Given the description of an element on the screen output the (x, y) to click on. 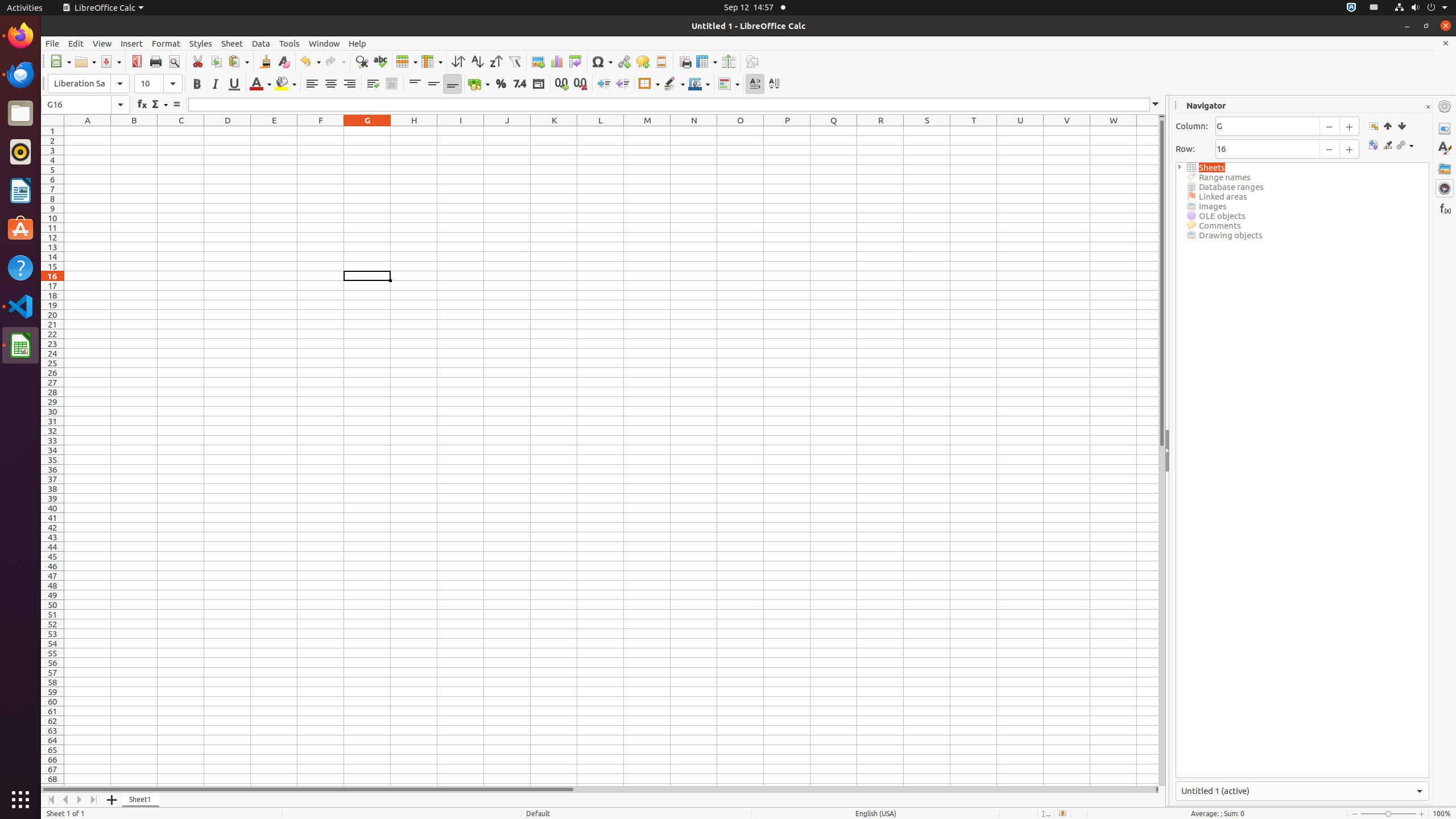
Sort Descending Element type: push-button (495, 61)
View Element type: menu (102, 43)
Font Size Element type: combo-box (158, 83)
Horizontal scroll bar Element type: scroll-bar (597, 789)
Find & Replace Element type: toggle-button (361, 61)
